Given the description of an element on the screen output the (x, y) to click on. 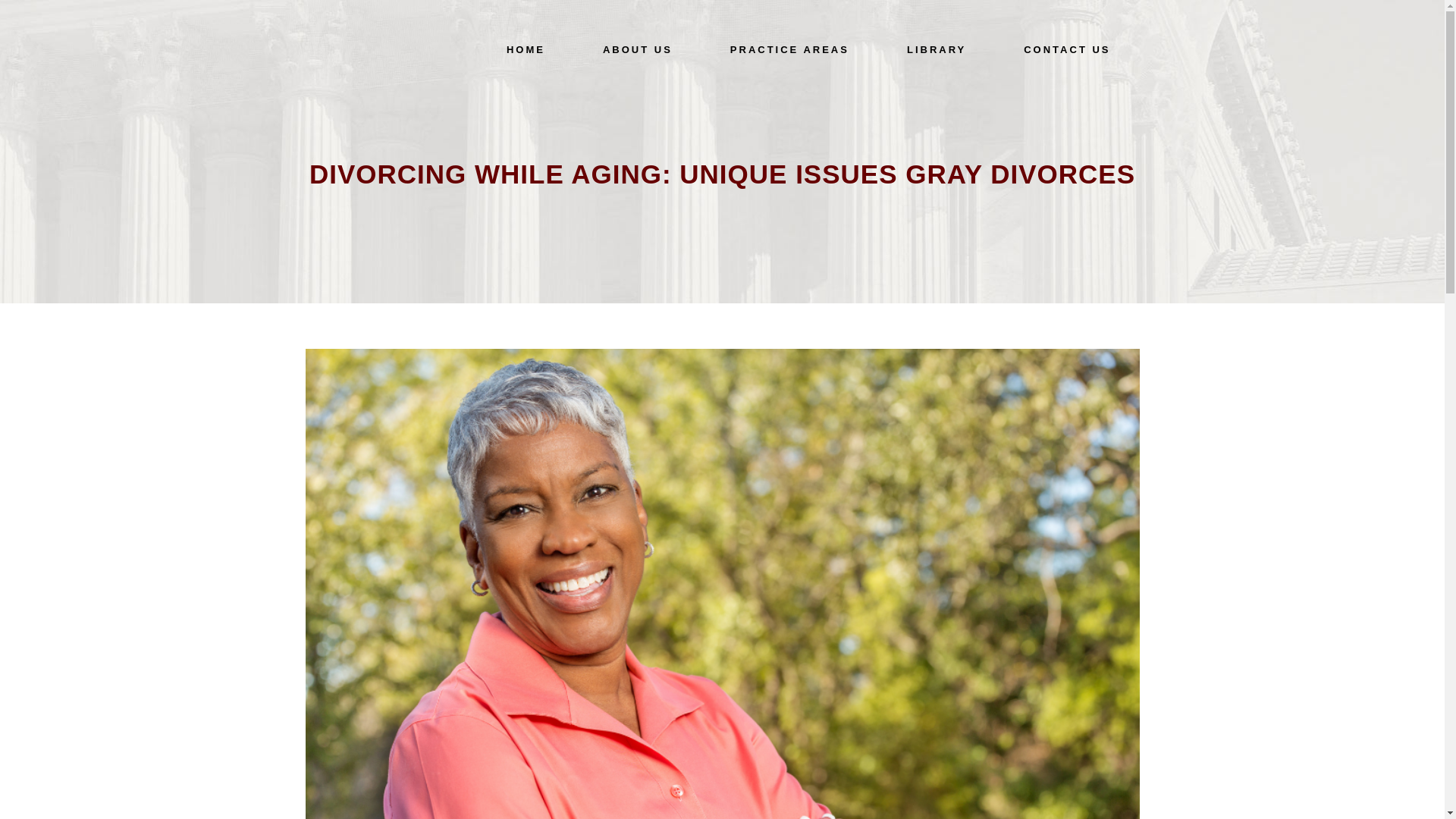
LIBRARY (935, 49)
PRACTICE AREAS (789, 49)
ABOUT US (637, 49)
HOME (525, 49)
CONTACT US (1066, 49)
